Given the description of an element on the screen output the (x, y) to click on. 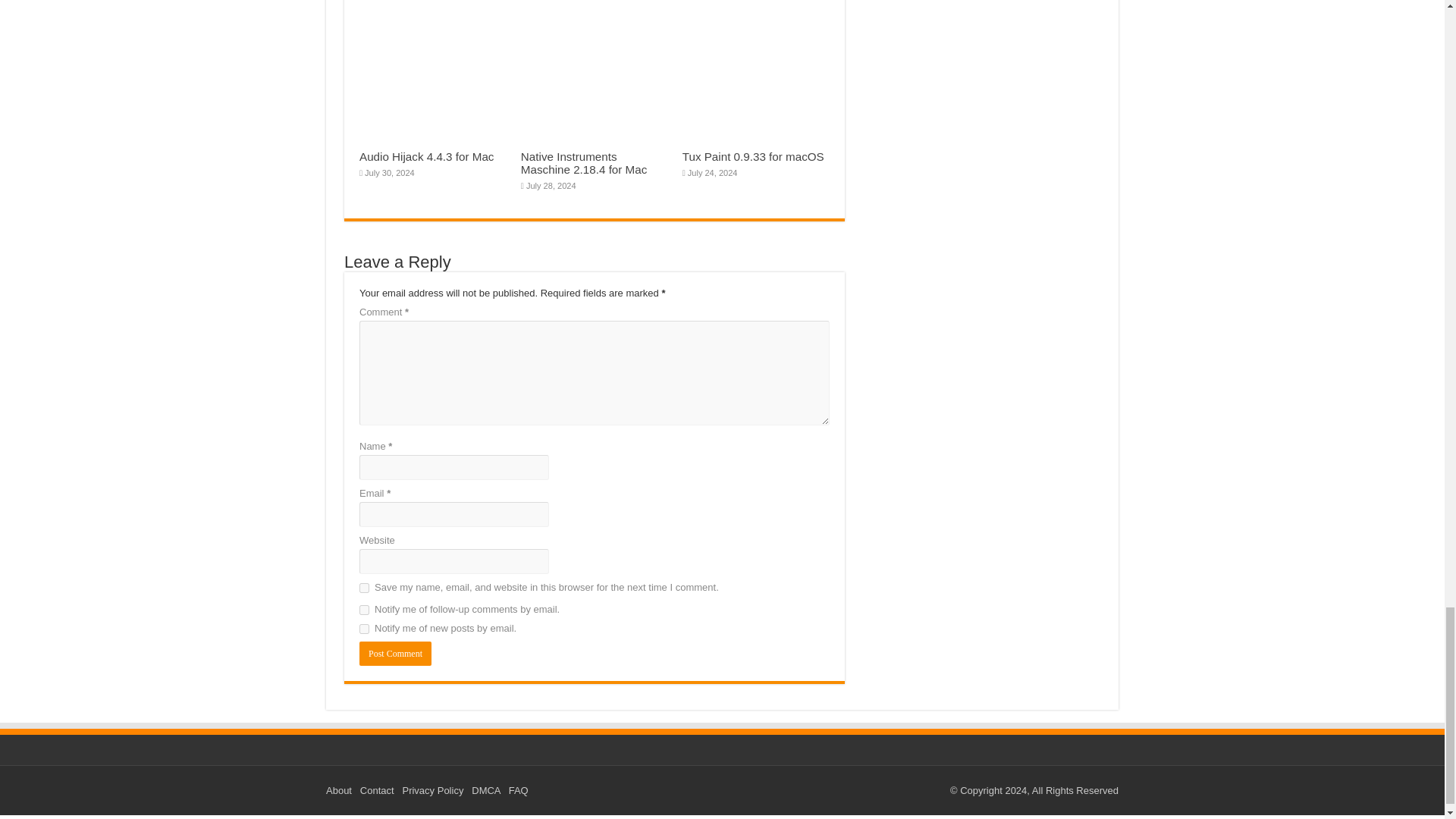
yes (364, 587)
Post Comment (394, 653)
subscribe (364, 628)
subscribe (364, 610)
